Given the description of an element on the screen output the (x, y) to click on. 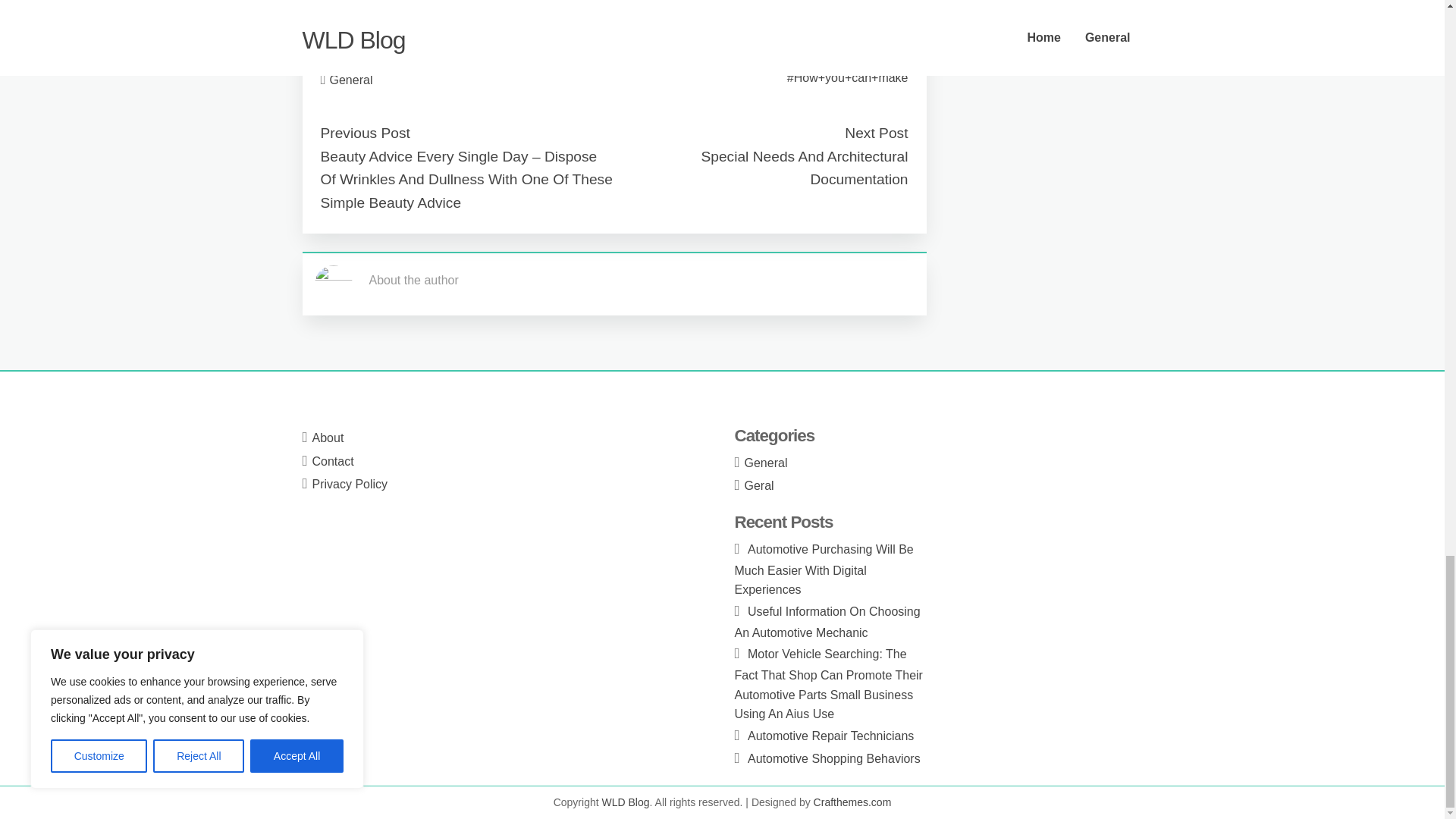
simply click the next internet site (406, 27)
Next Post (875, 132)
About (328, 437)
General (351, 79)
General (765, 462)
Previous Post (364, 132)
Contact (333, 461)
Special Needs And Architectural Documentation (803, 168)
Privacy Policy (350, 483)
